Given the description of an element on the screen output the (x, y) to click on. 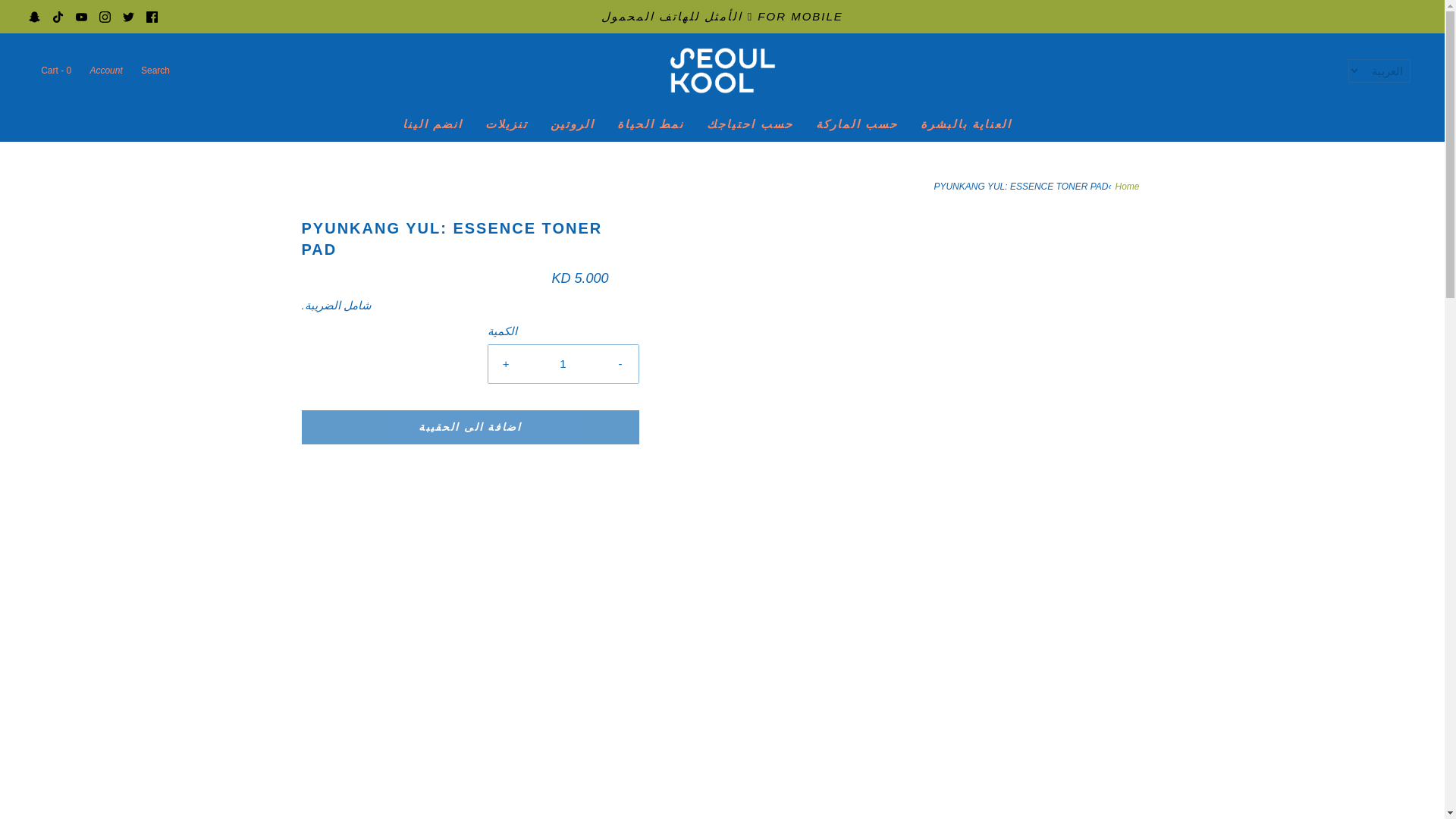
YOUTUBE ICON (81, 15)
YOUTUBE ICON (81, 16)
Log in (104, 70)
Back to the frontpage (1128, 186)
TIKTOK ICON (57, 15)
1 (562, 363)
FACEBOOK ICON (151, 15)
SNAPCHAT ICON (34, 15)
Search (153, 70)
INSTAGRAM ICON (104, 15)
SNAPCHAT ICON (34, 16)
TIKTOK ICON (58, 16)
FACEBOOK ICON (152, 16)
Cart (54, 70)
TWITTER ICON (127, 16)
